Given the description of an element on the screen output the (x, y) to click on. 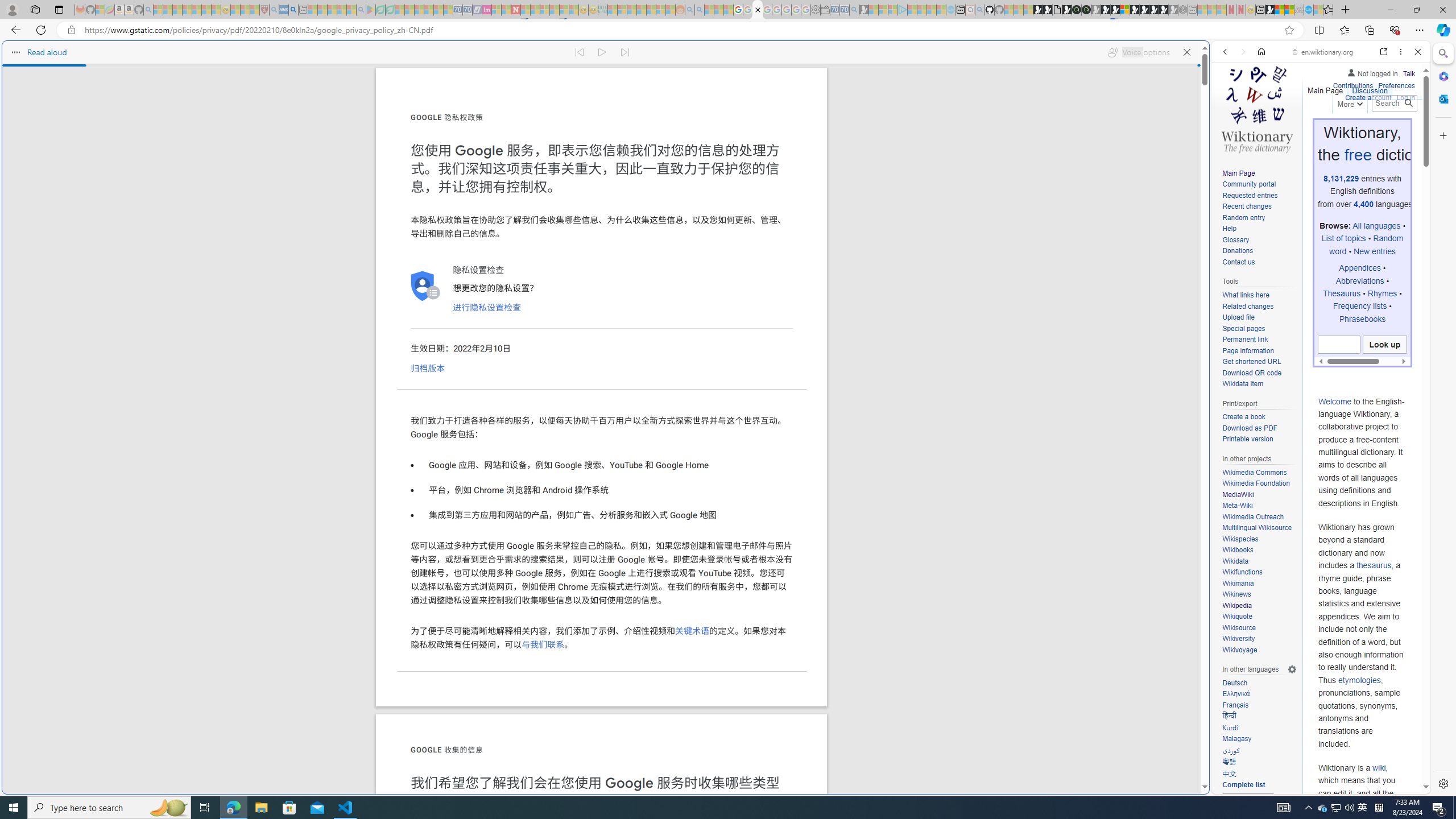
Create account (1367, 96)
Wikipedia (1259, 605)
Log in (1405, 96)
Create account (1367, 98)
google_privacy_policy_zh-CN.pdf (757, 9)
